Given the description of an element on the screen output the (x, y) to click on. 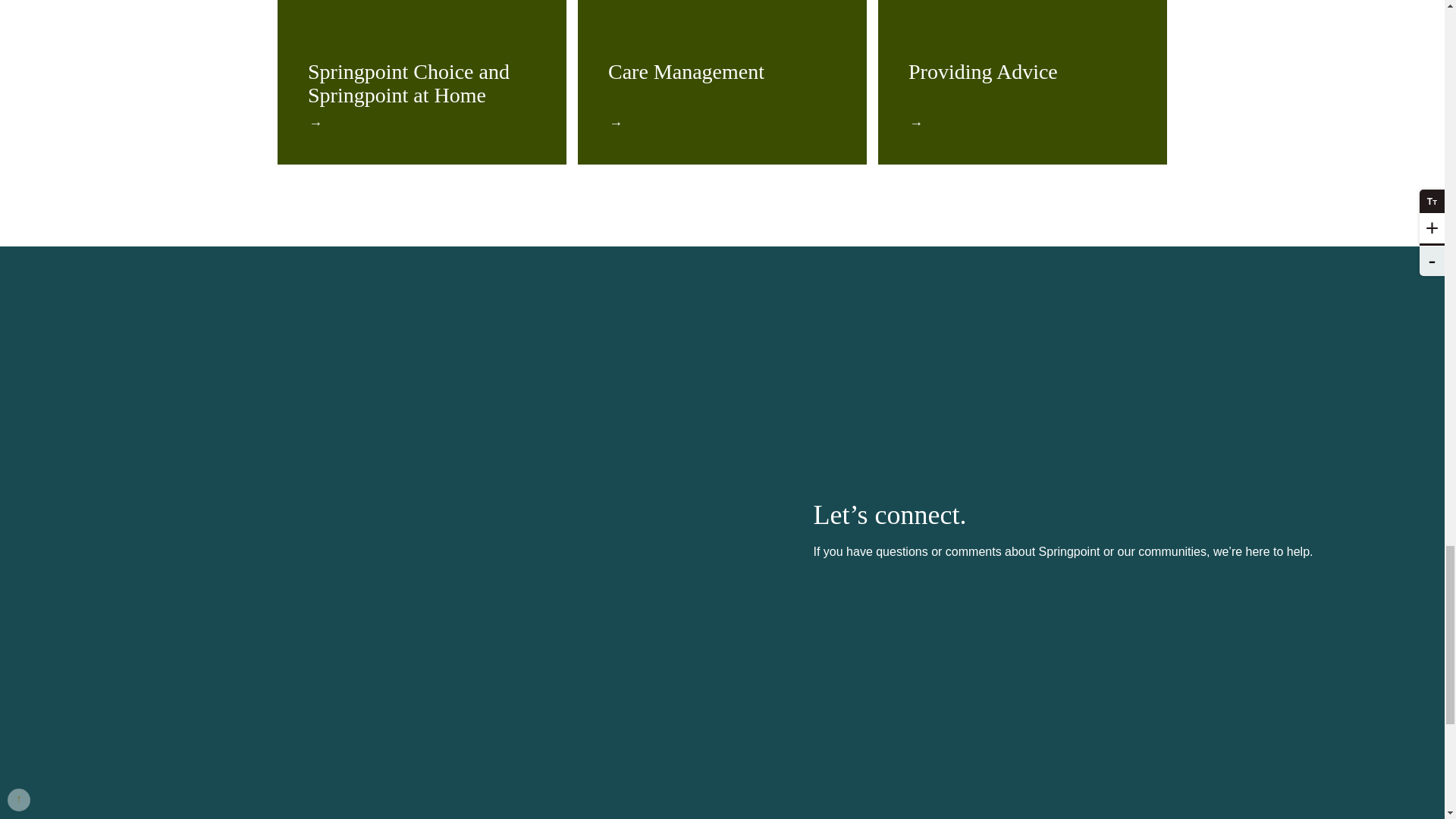
More about: Care Management (686, 71)
More about: Springpoint Choice and Springpoint at Home (408, 83)
More about: Providing Advice (983, 71)
